Given the description of an element on the screen output the (x, y) to click on. 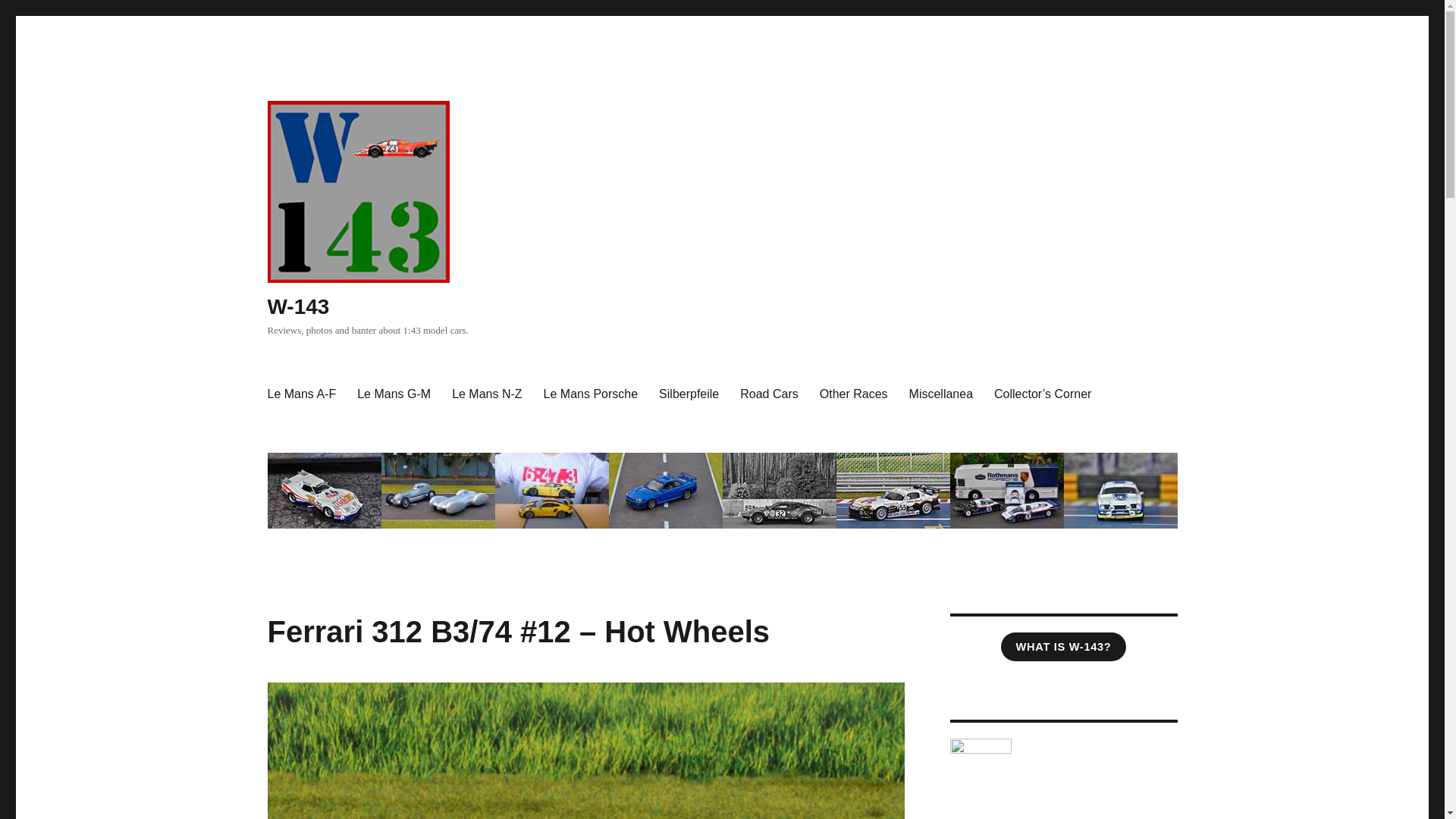
Miscellanea (941, 394)
Silberpfeile (688, 394)
Le Mans A-F (301, 394)
Le Mans N-Z (486, 394)
Le Mans Porsche (590, 394)
WHAT IS W-143? (1063, 646)
Other Races (853, 394)
Le Mans G-M (393, 394)
Road Cars (768, 394)
W-143 (297, 306)
